Given the description of an element on the screen output the (x, y) to click on. 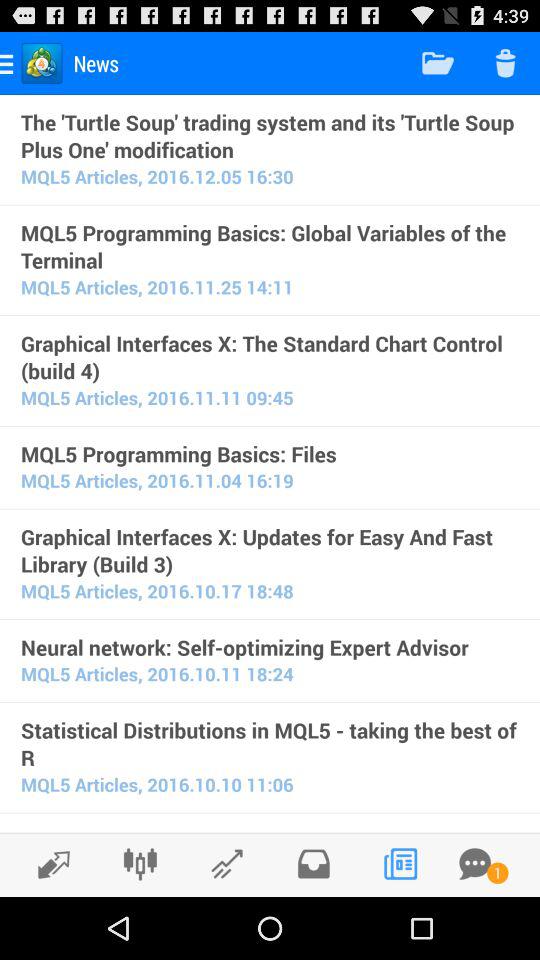
change to dark (48, 864)
